Given the description of an element on the screen output the (x, y) to click on. 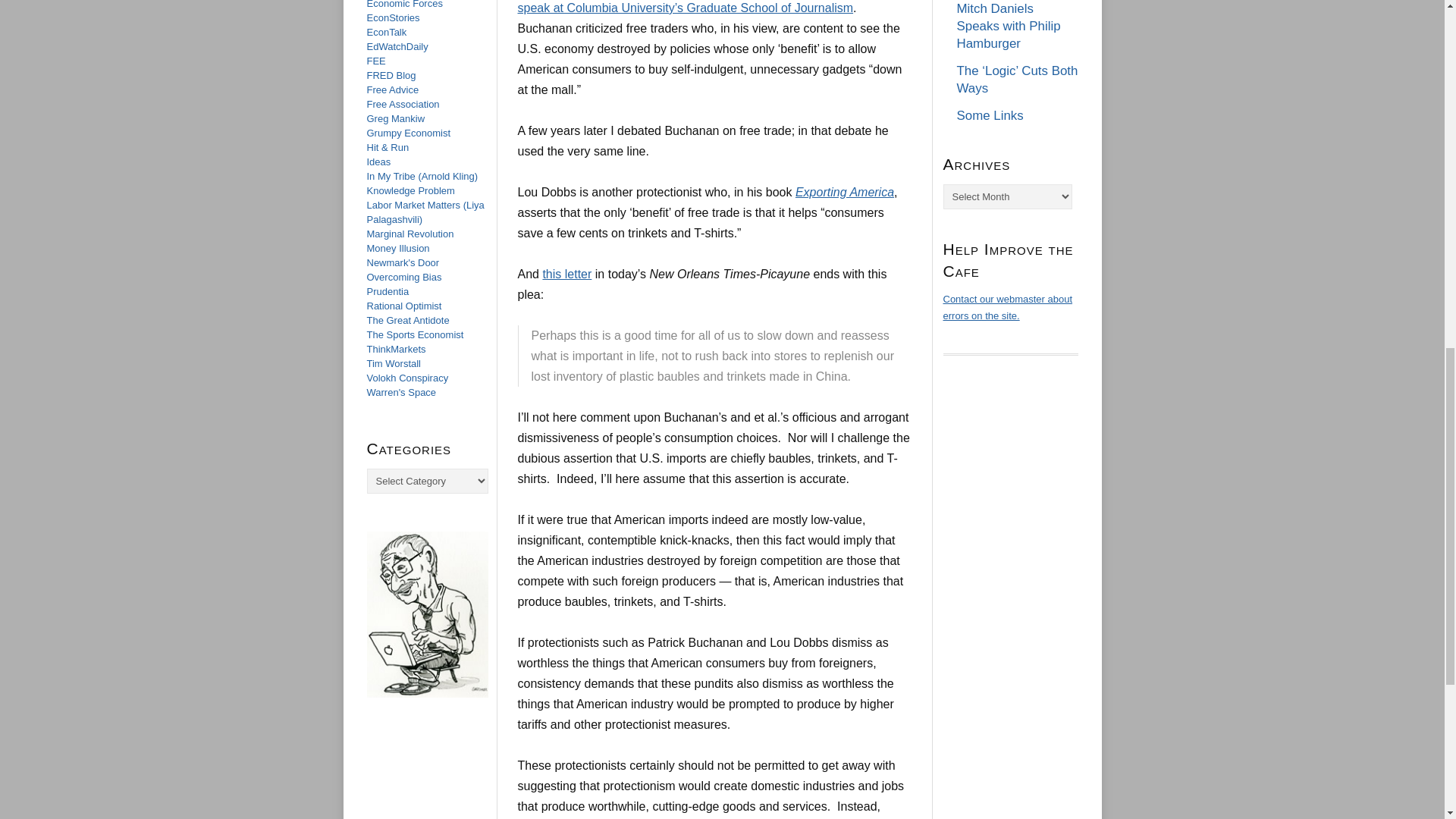
Grumpy Economist (408, 132)
EconStories (393, 17)
Economic Forces (404, 4)
FEE (375, 60)
Knowledge Problem (410, 190)
EconTalk (386, 31)
Money Illusion (397, 247)
Marginal Revolution (410, 233)
Greg Mankiw (395, 118)
Ideas (378, 161)
FRED Blog (391, 75)
Free Advice (392, 89)
EdWatchDaily (397, 46)
Newmark's Door (402, 262)
Free Association (402, 103)
